Given the description of an element on the screen output the (x, y) to click on. 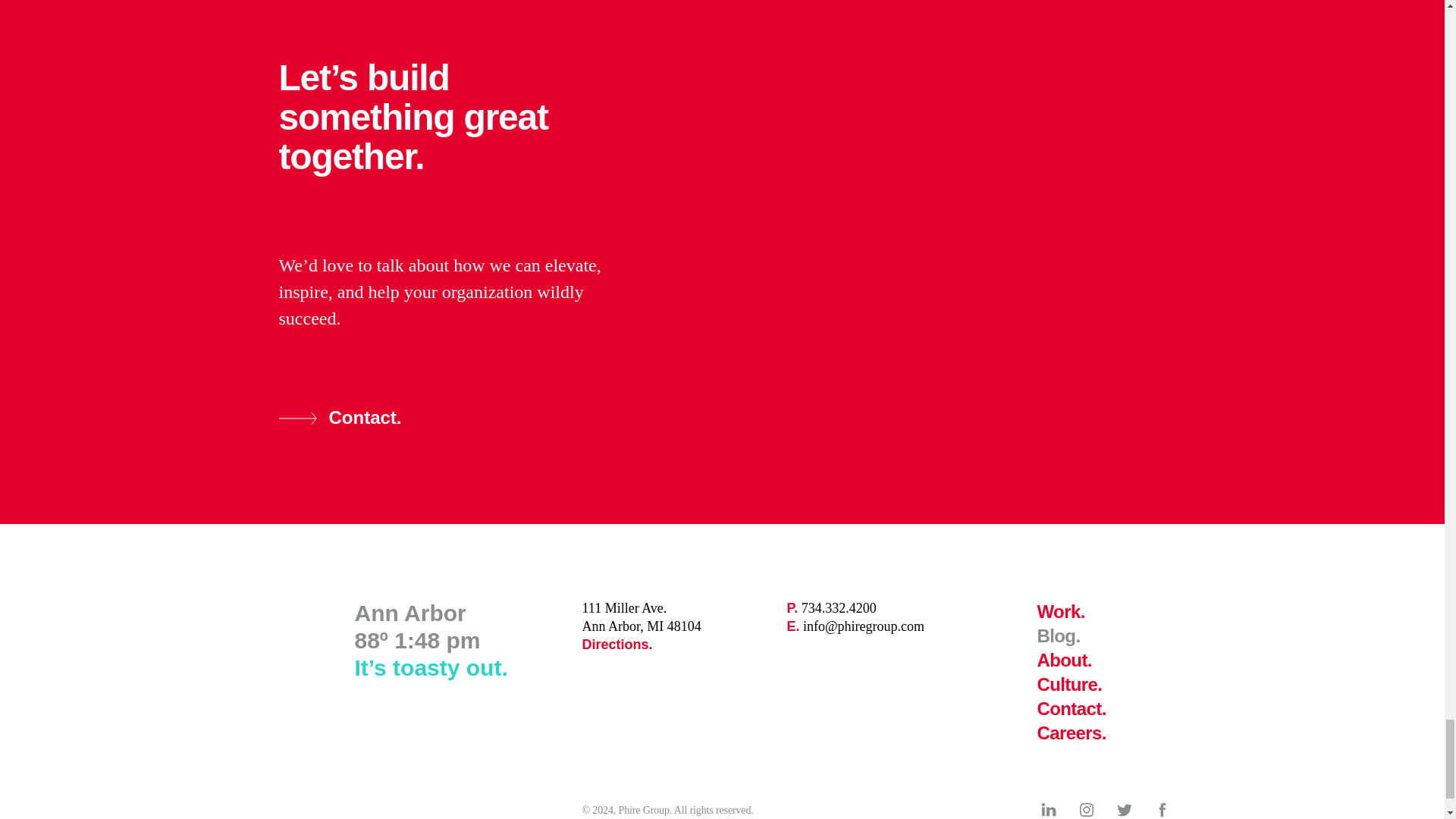
Phire Group on Twitter (831, 607)
Culture (1124, 809)
About (1069, 684)
Phire Group on Facebook (1064, 660)
Contact (1162, 809)
Phire Group on Instagram (1071, 708)
Careers (1086, 809)
Phire Group on LinkedIn (1071, 732)
Work (1047, 809)
Contact (1060, 611)
Directions. (340, 418)
Blog (617, 644)
